Given the description of an element on the screen output the (x, y) to click on. 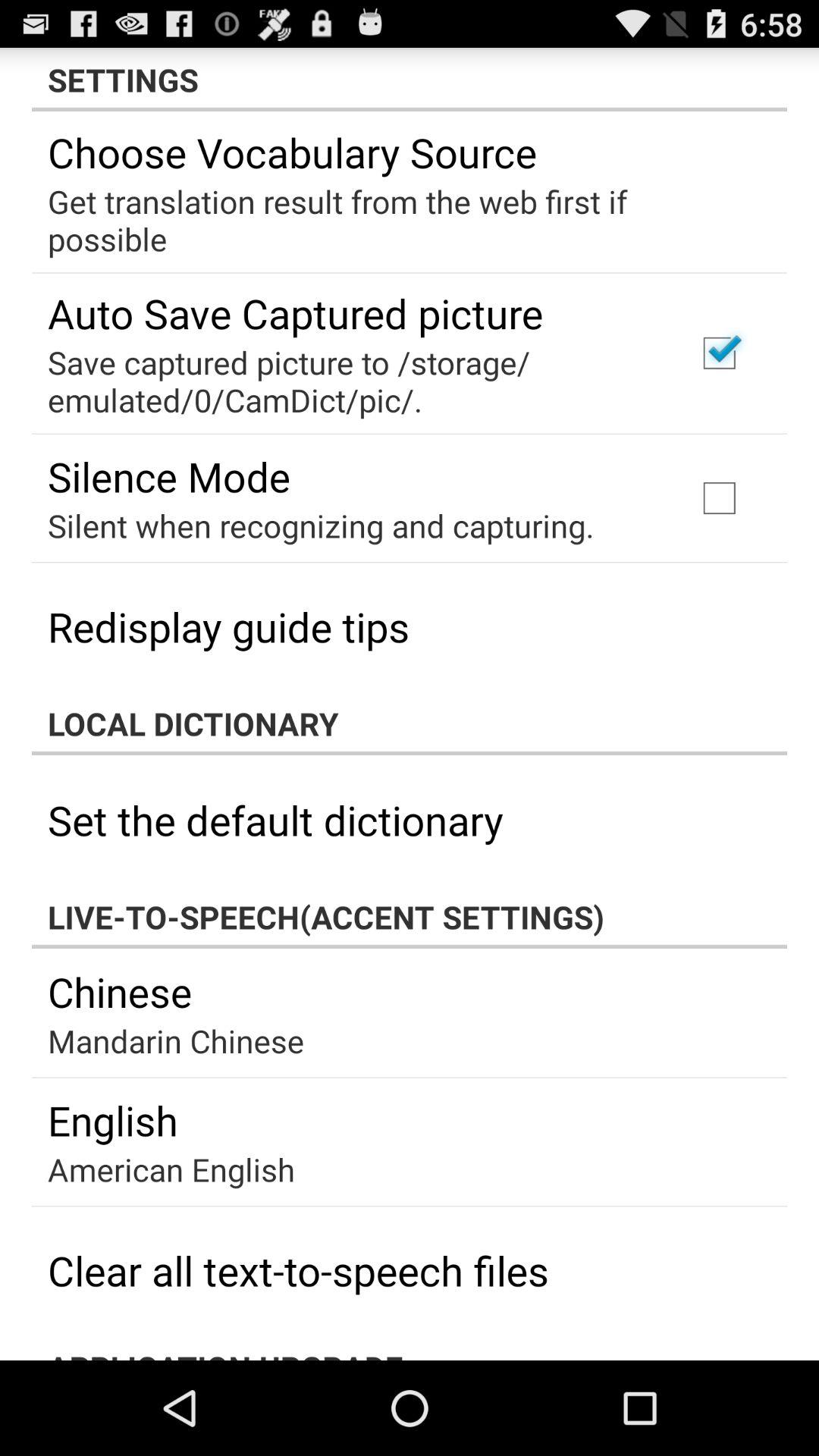
turn off get translation result icon (399, 219)
